Given the description of an element on the screen output the (x, y) to click on. 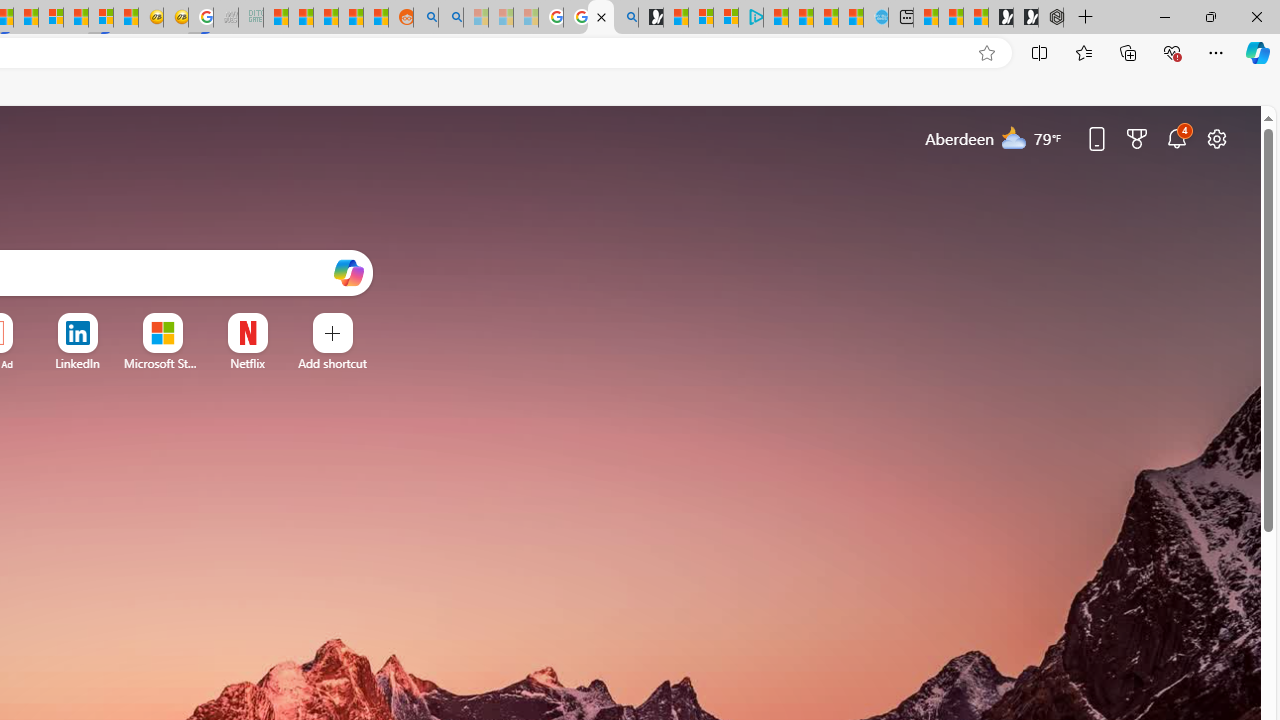
Bing Real Estate - Home sales and rental listings (625, 17)
Student Loan Update: Forgiveness Program Ends This Month (351, 17)
Mostly cloudy (1014, 137)
14 Common Myths Debunked By Scientific Facts (26, 17)
